Given the description of an element on the screen output the (x, y) to click on. 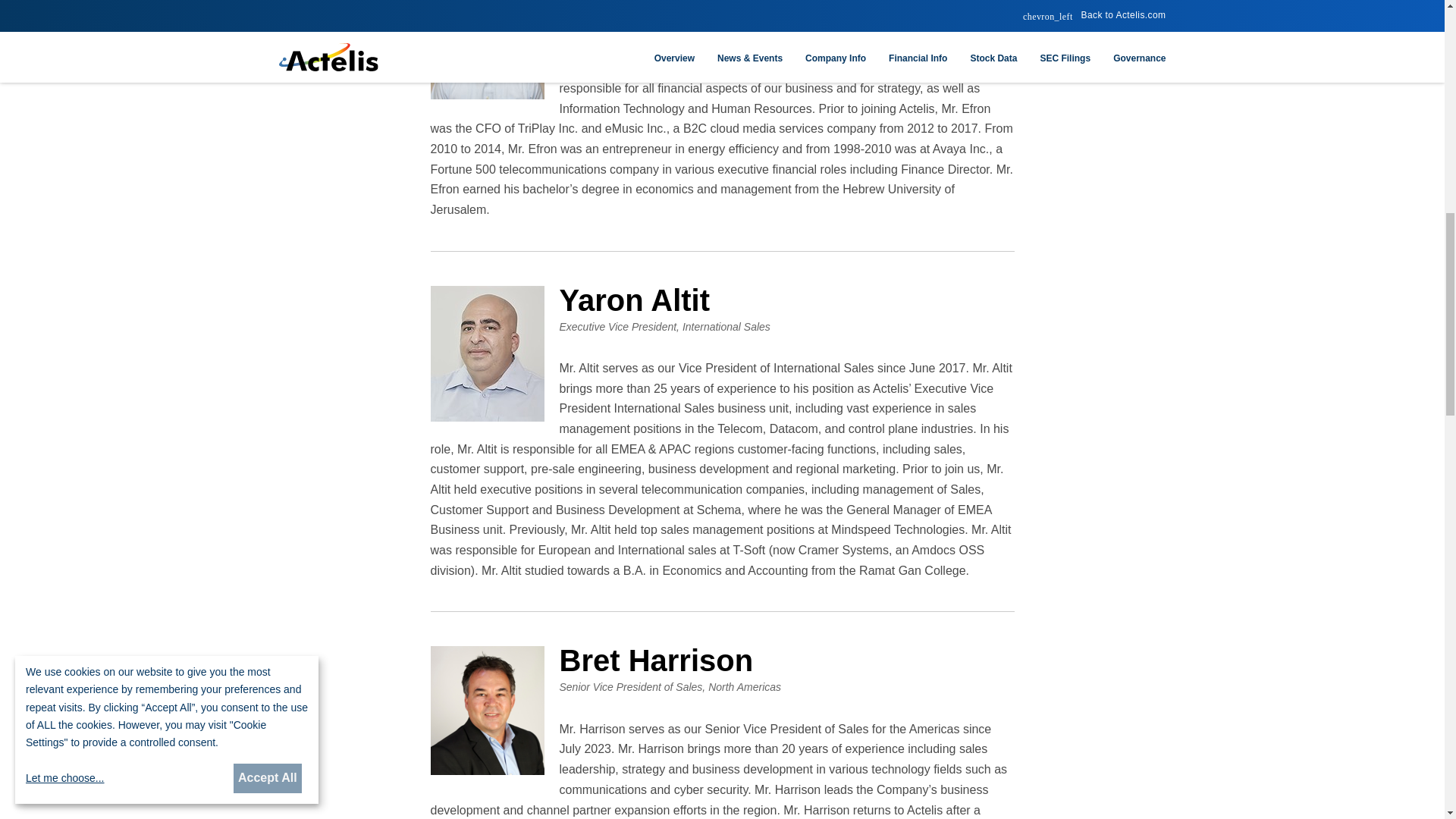
Yoav Efron (487, 49)
